Given the description of an element on the screen output the (x, y) to click on. 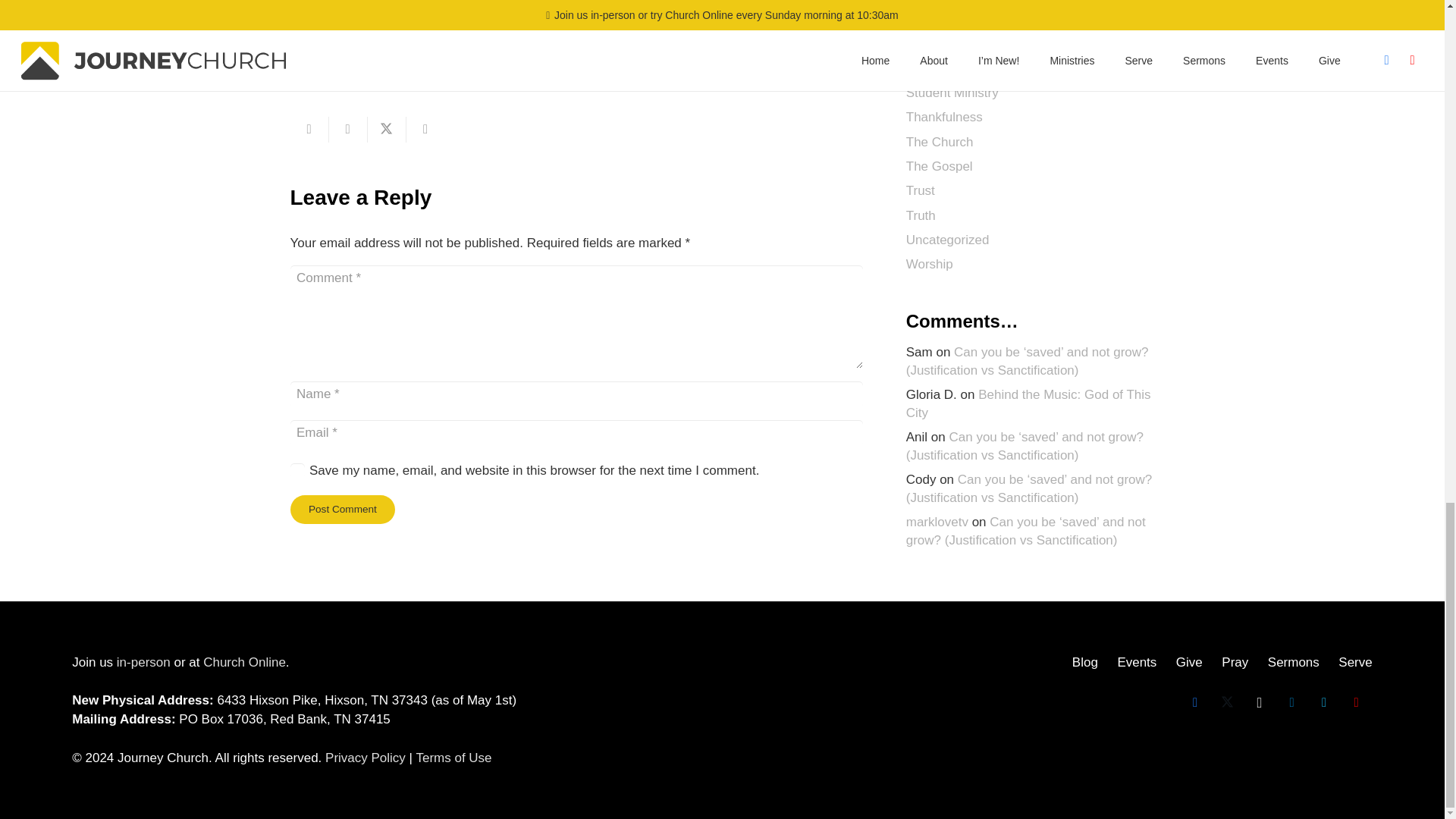
Twitter (1227, 703)
1 (296, 470)
Facebook (1195, 703)
Vimeo (1323, 703)
Tweet this (386, 129)
Email this (309, 129)
Instagram (1259, 703)
Share this (348, 129)
YouTube (1356, 703)
LinkedIn (1291, 703)
